Given the description of an element on the screen output the (x, y) to click on. 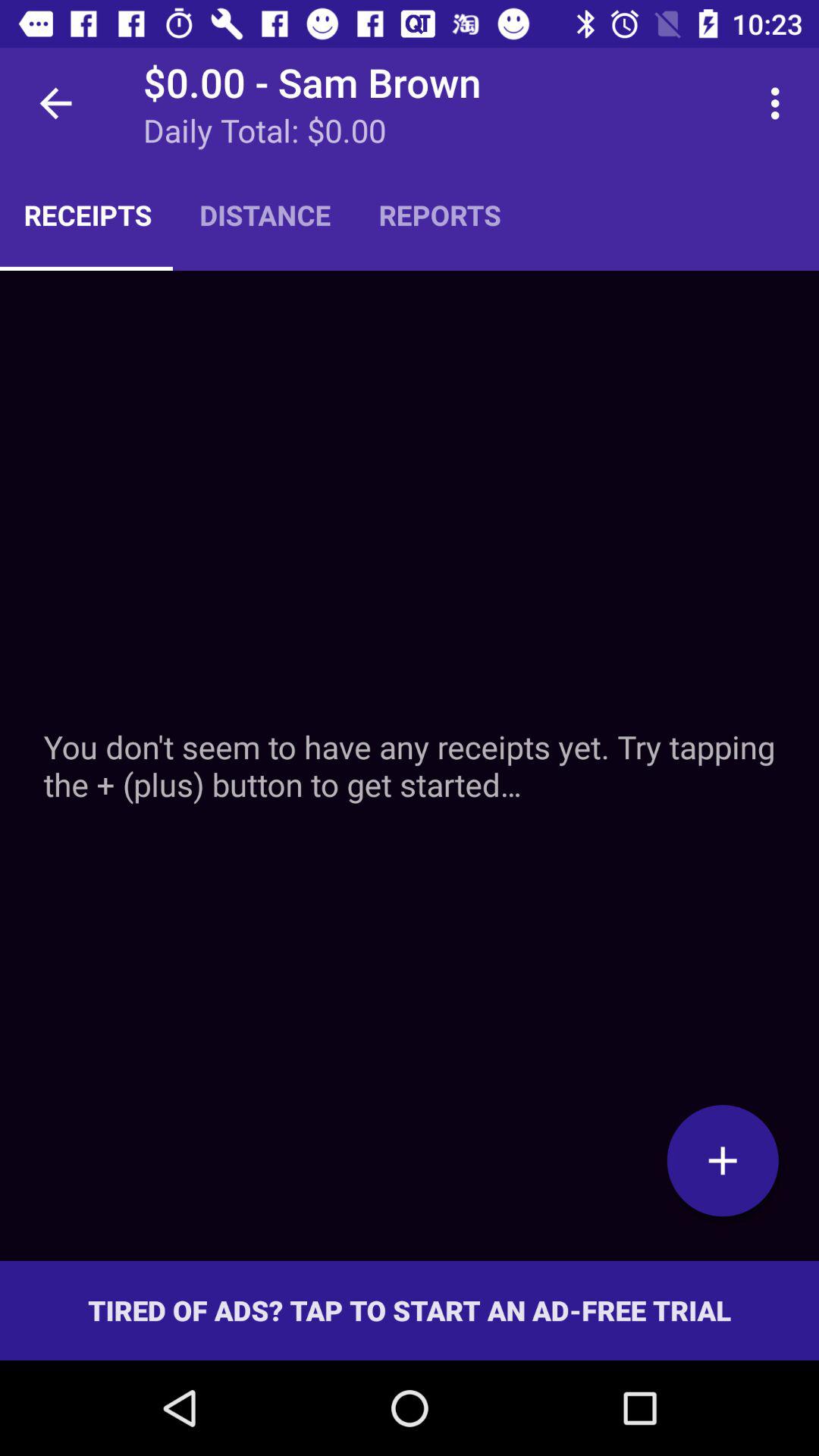
jump to the distance item (264, 214)
